Given the description of an element on the screen output the (x, y) to click on. 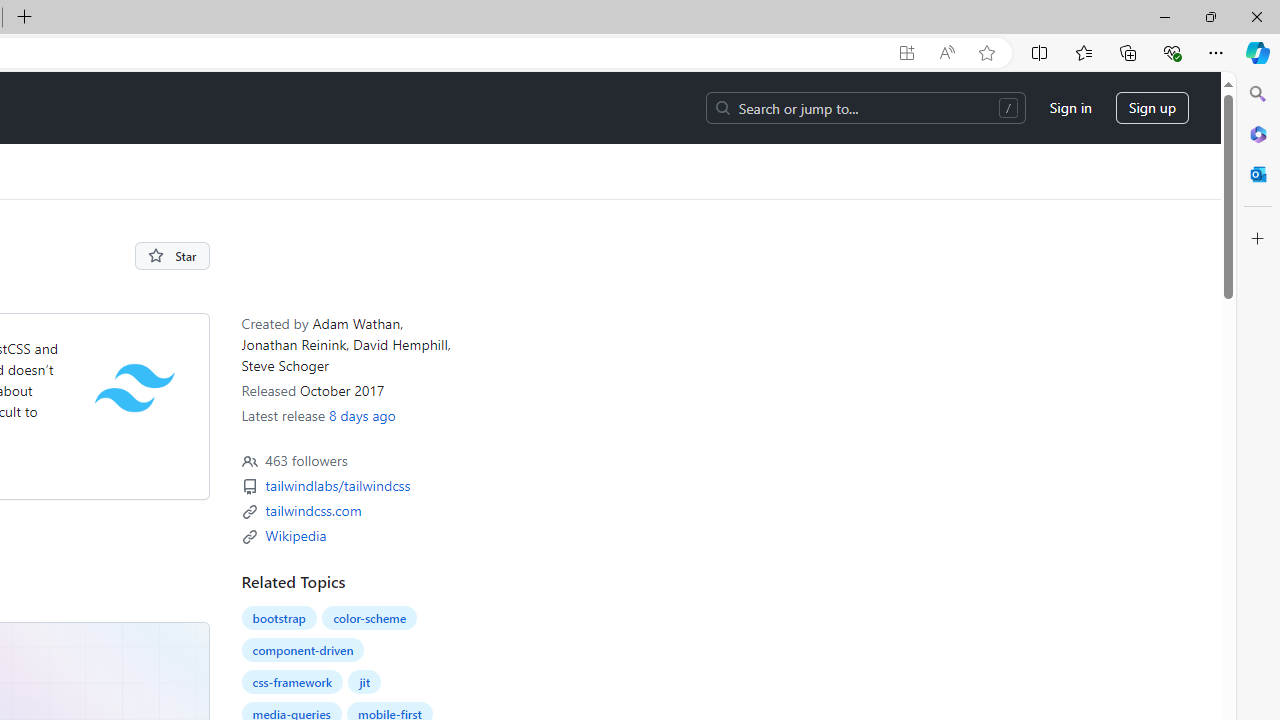
Sign up (1152, 107)
en.wikipedia.org/wiki/Tailwind_CSS (295, 534)
tailwindlabs/tailwindcss (337, 485)
tailwindcss.com (313, 510)
color-scheme (370, 618)
component-driven (302, 649)
You must be signed in to star a repository (171, 255)
